Given the description of an element on the screen output the (x, y) to click on. 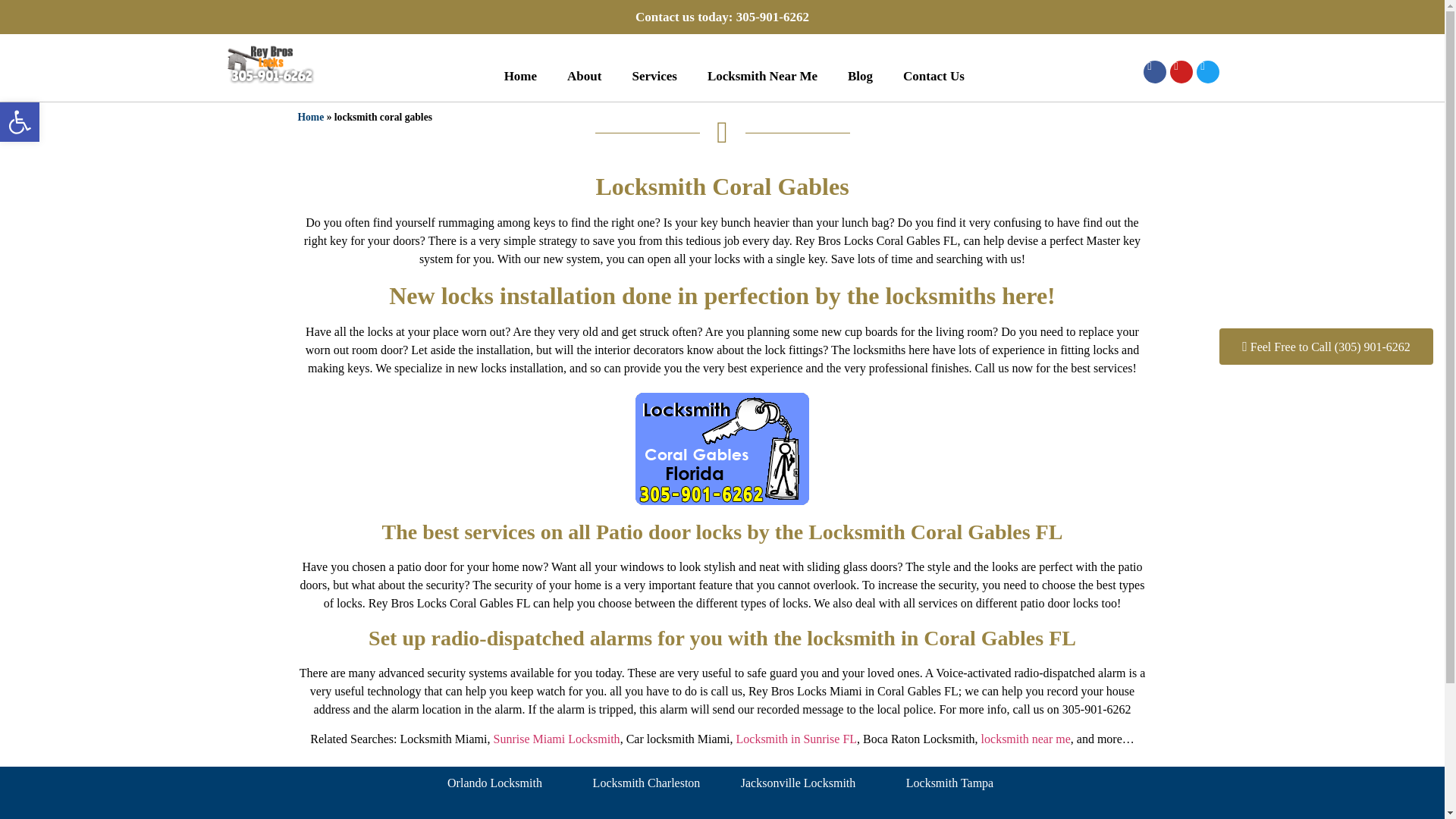
Services (653, 76)
Locksmith Near Me (19, 121)
About (762, 76)
Blog (583, 76)
Contact Us (860, 76)
Accessibility Tools (933, 76)
Home (19, 121)
Accessibility Tools (520, 76)
